Given the description of an element on the screen output the (x, y) to click on. 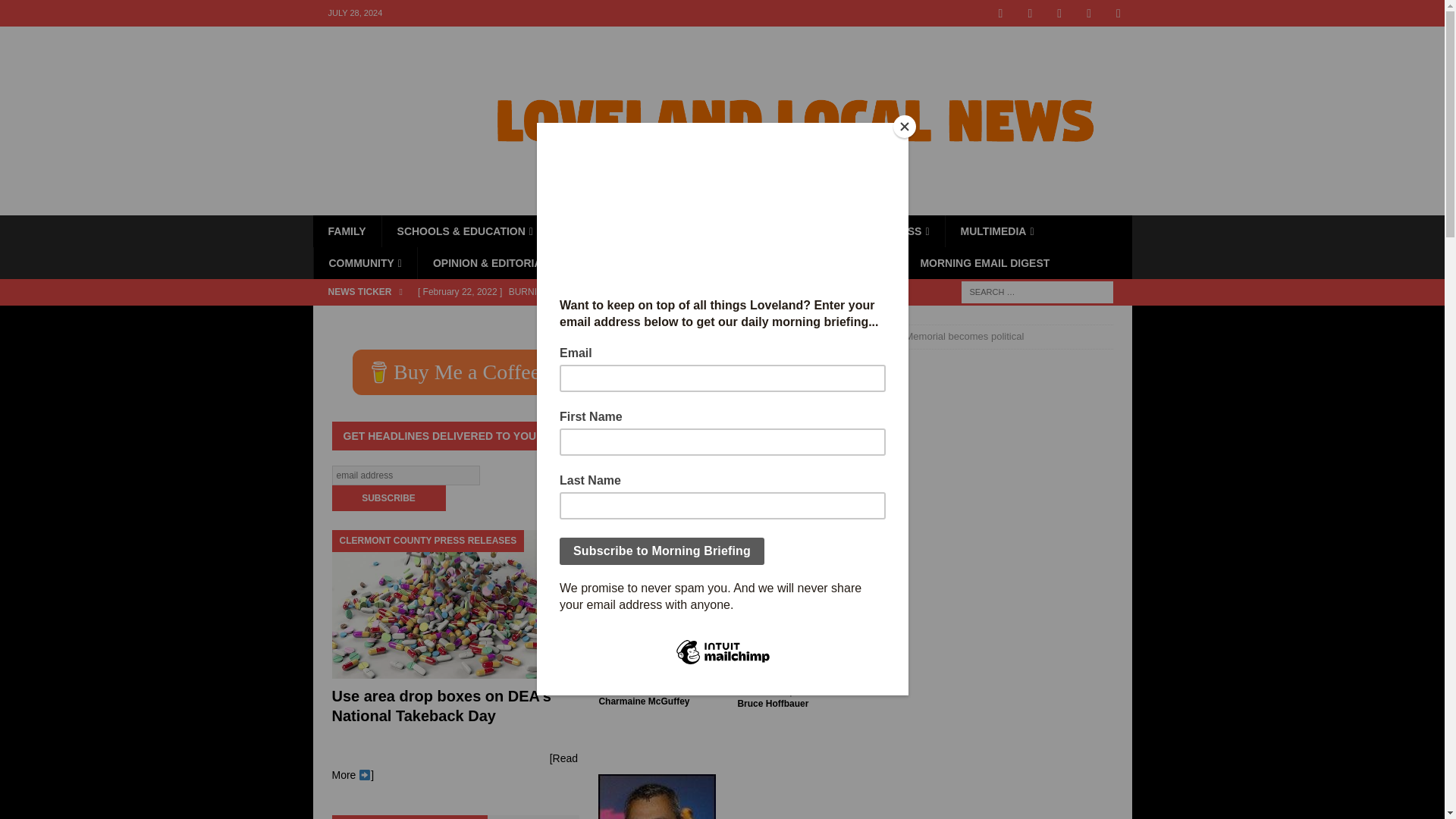
Subscribe (388, 498)
Share your favorite Loveland Local News images on Pinterest! (1118, 13)
Get more from LLN on Instagram! (1059, 13)
See videos and livestream on LLN TV! (1088, 13)
Follow us on Twitter for breaking news! (1029, 13)
